Given the description of an element on the screen output the (x, y) to click on. 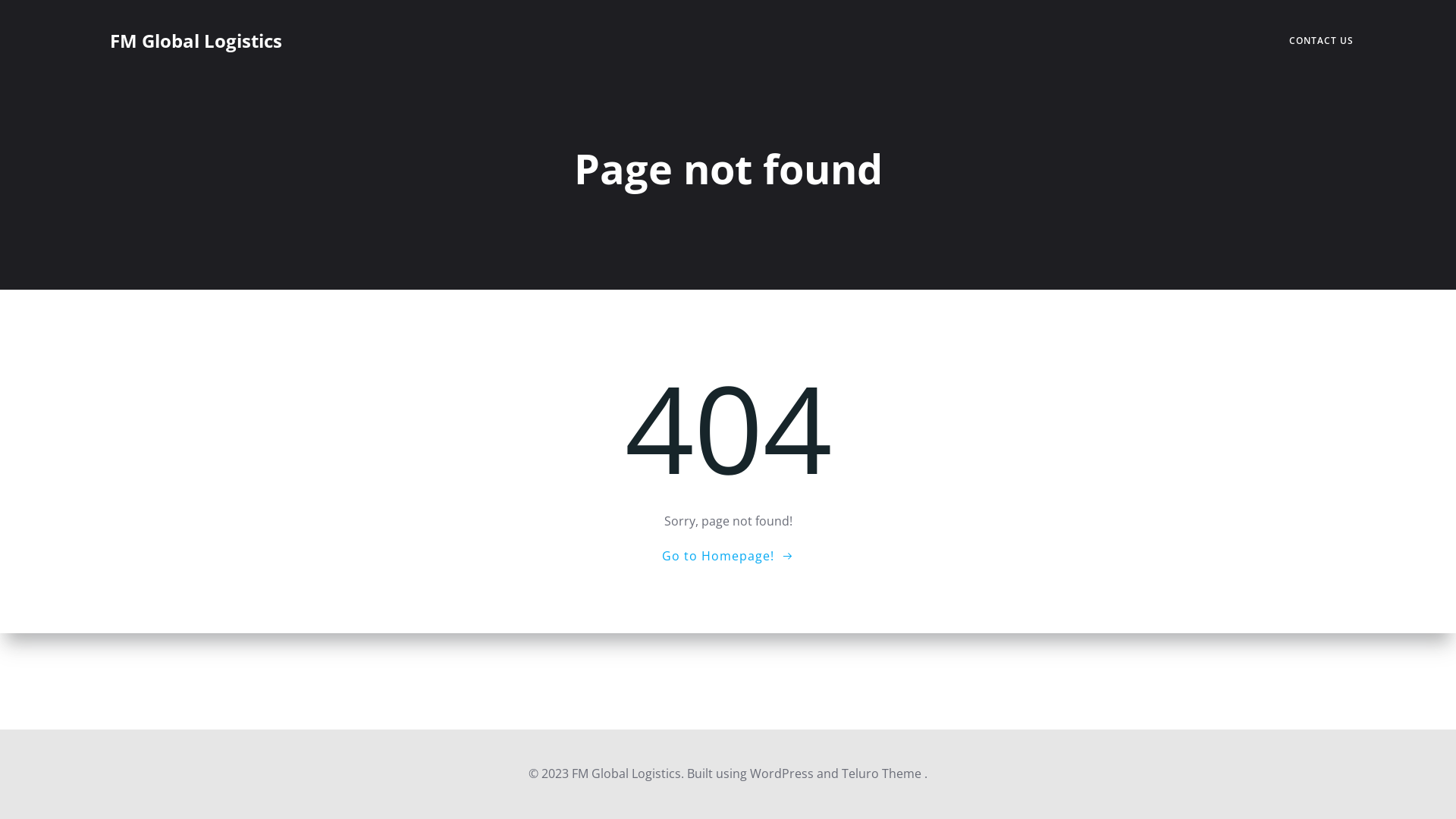
FM Global Logistics Element type: text (195, 40)
CONTACT US Element type: text (1321, 40)
Go to Homepage! Element type: text (727, 555)
